Given the description of an element on the screen output the (x, y) to click on. 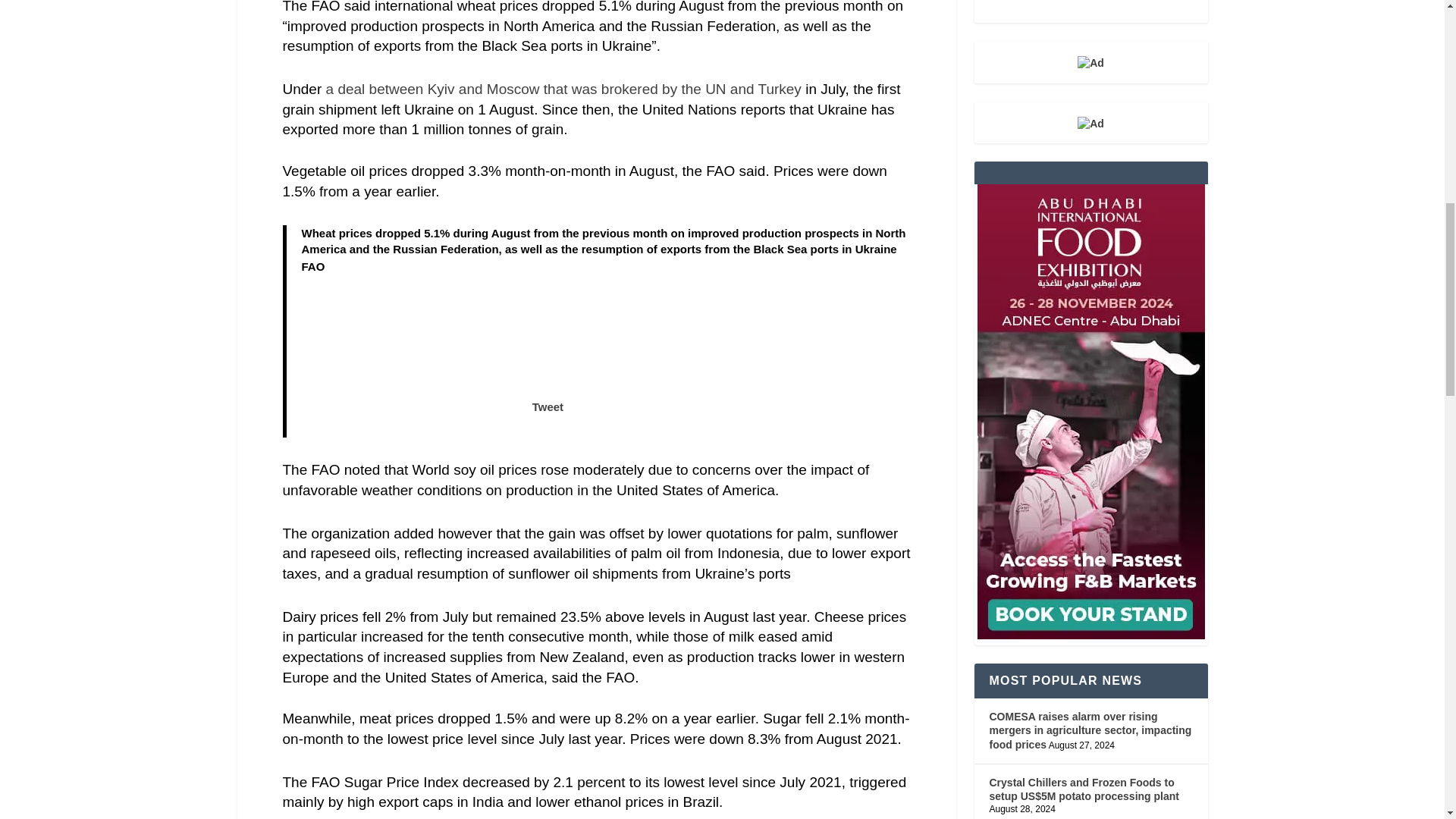
Tweet (432, 466)
LATEST DIGITAL MAGAZINE (1090, 11)
